Given the description of an element on the screen output the (x, y) to click on. 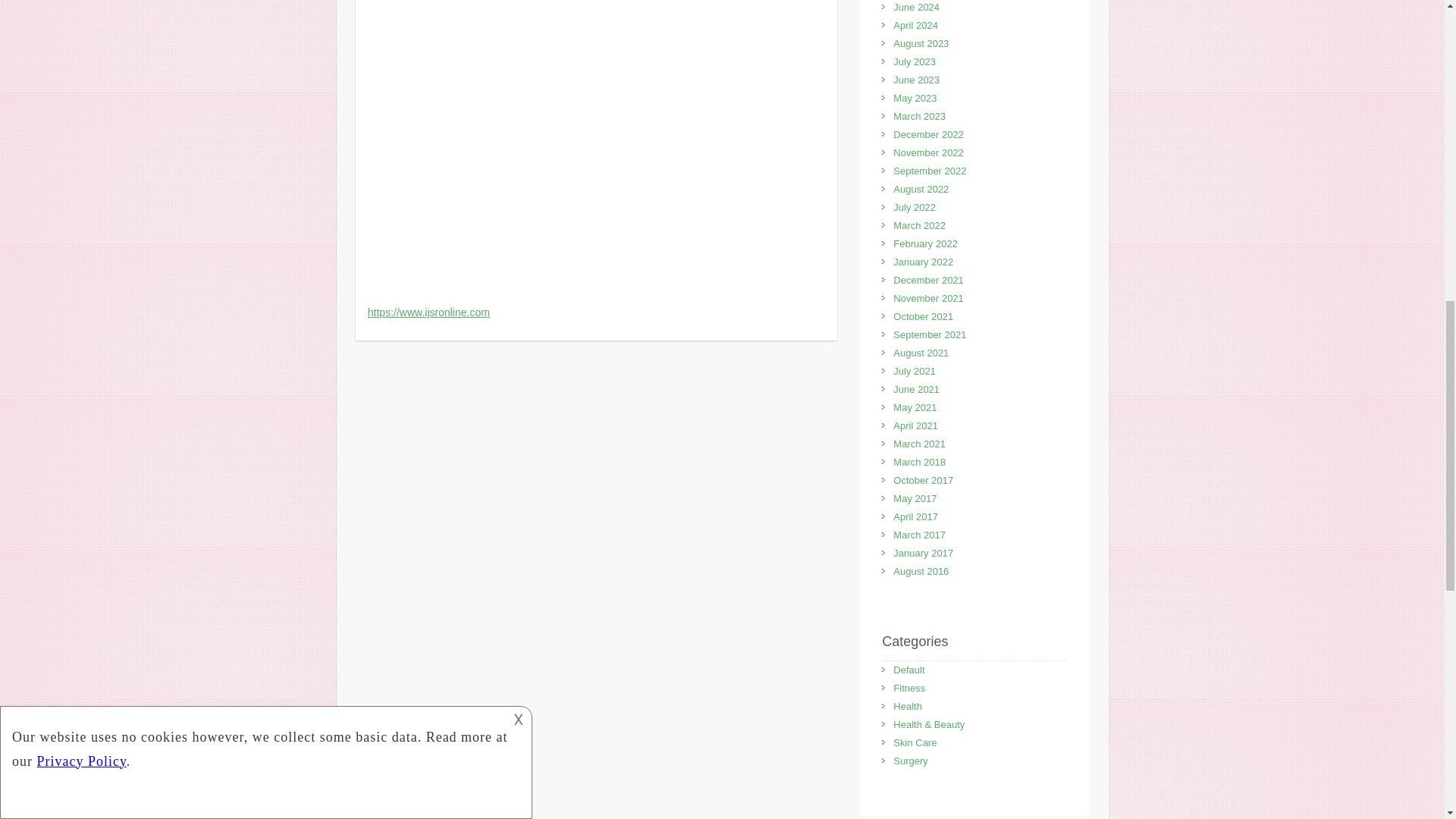
March 2022 (918, 225)
July 2022 (914, 206)
December 2022 (928, 134)
March 2023 (918, 116)
May 2023 (914, 98)
August 2023 (921, 43)
June 2024 (916, 7)
November 2022 (928, 152)
April 2024 (915, 25)
